Given the description of an element on the screen output the (x, y) to click on. 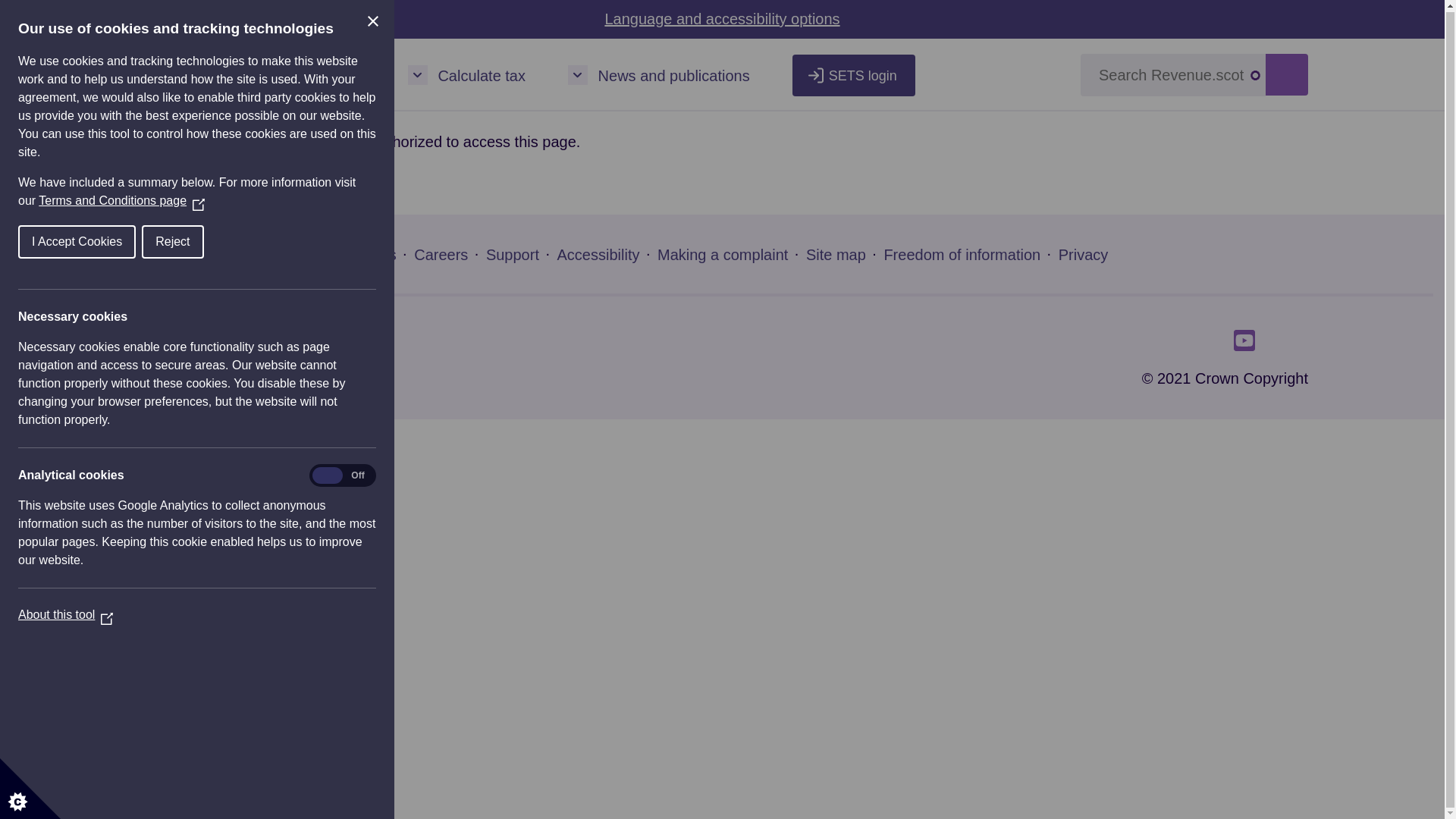
Taxes (345, 74)
Toggle Taxes sub menu (305, 75)
Taxes (345, 74)
I Accept Cookies (42, 240)
Reject (142, 240)
Toggle Taxes sub menu (305, 75)
Search (1286, 74)
